Given the description of an element on the screen output the (x, y) to click on. 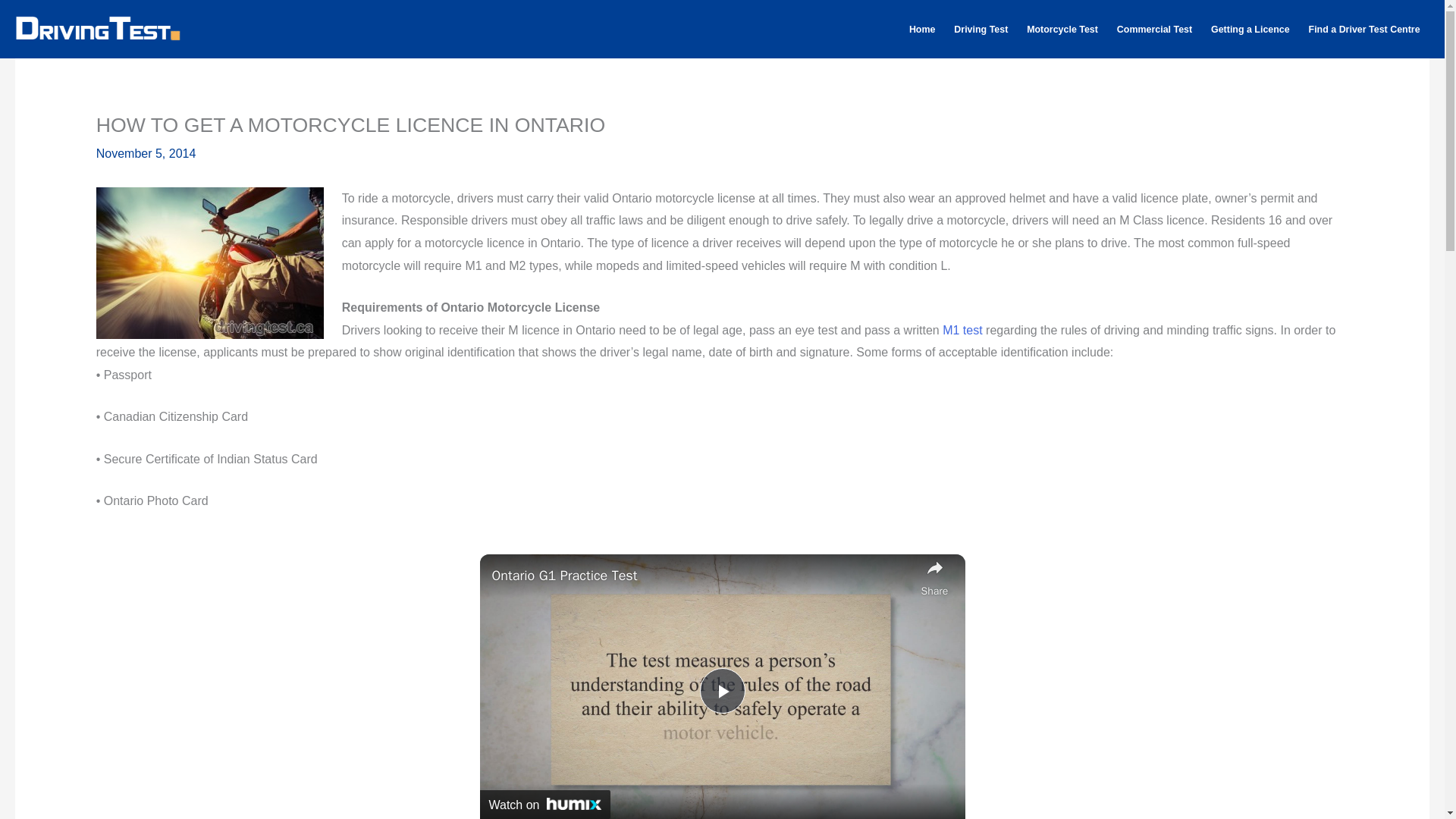
Play Video (721, 690)
Watch on (544, 804)
Find a Driver Test Centre (1363, 29)
Commercial Test (1153, 29)
M1 test (961, 329)
Getting a Licence (1251, 29)
Driving Test (980, 29)
Ontario G1 Practice Test (702, 575)
Play Video (721, 690)
Motorcycle Test (1062, 29)
